Given the description of an element on the screen output the (x, y) to click on. 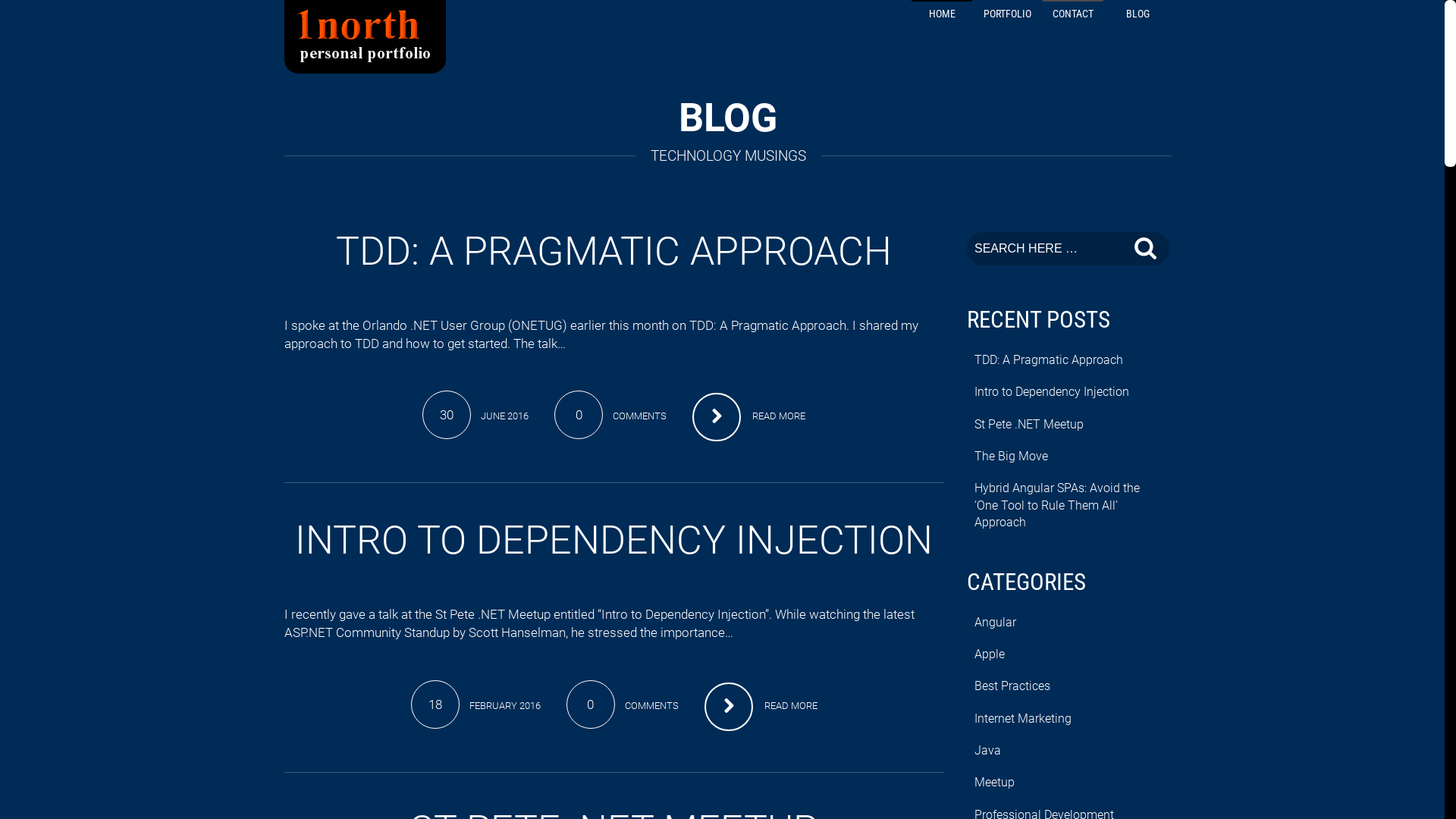
Java Element type: text (987, 750)
COMMENTS Element type: text (651, 705)
CONTACT Element type: text (1072, 16)
Angular Element type: text (994, 622)
Intro to Dependency Injection Element type: text (1051, 391)
Internet Marketing Element type: text (1022, 718)
0 Element type: text (589, 704)
0 Element type: text (578, 414)
Meetup Element type: text (994, 782)
Best Practices Element type: text (1011, 686)
Apple Element type: text (989, 654)
READ MORE Element type: text (760, 705)
PORTFOLIO Element type: text (1006, 16)
The Big Move Element type: text (1010, 456)
TDD: A PRAGMATIC APPROACH Element type: text (613, 251)
COMMENTS Element type: text (639, 415)
READ MORE Element type: text (748, 415)
INTRO TO DEPENDENCY INJECTION Element type: text (613, 540)
TDD: A Pragmatic Approach Element type: text (1048, 360)
St Pete .NET Meetup Element type: text (1028, 424)
BLOG Element type: text (1137, 16)
HOME Element type: text (941, 16)
